Given the description of an element on the screen output the (x, y) to click on. 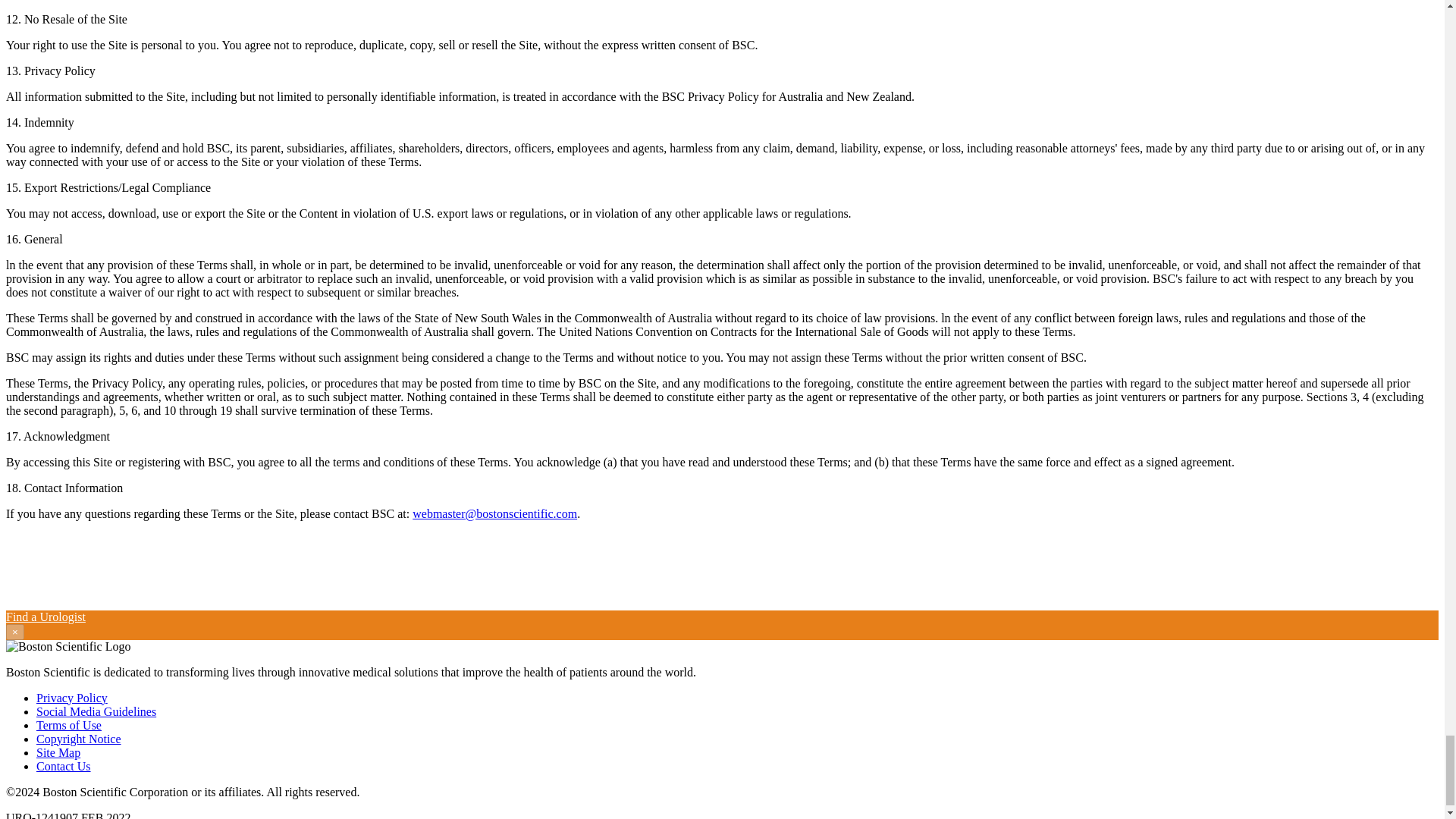
Contact Us (63, 766)
Find a Urologist (45, 616)
Site Map (58, 752)
Copyright Notice (78, 738)
Privacy Policy (71, 697)
Find a Urologist (45, 616)
Social Media Guidelines (95, 711)
Boston Scientific Logo (68, 646)
Terms of Use (68, 725)
